Given the description of an element on the screen output the (x, y) to click on. 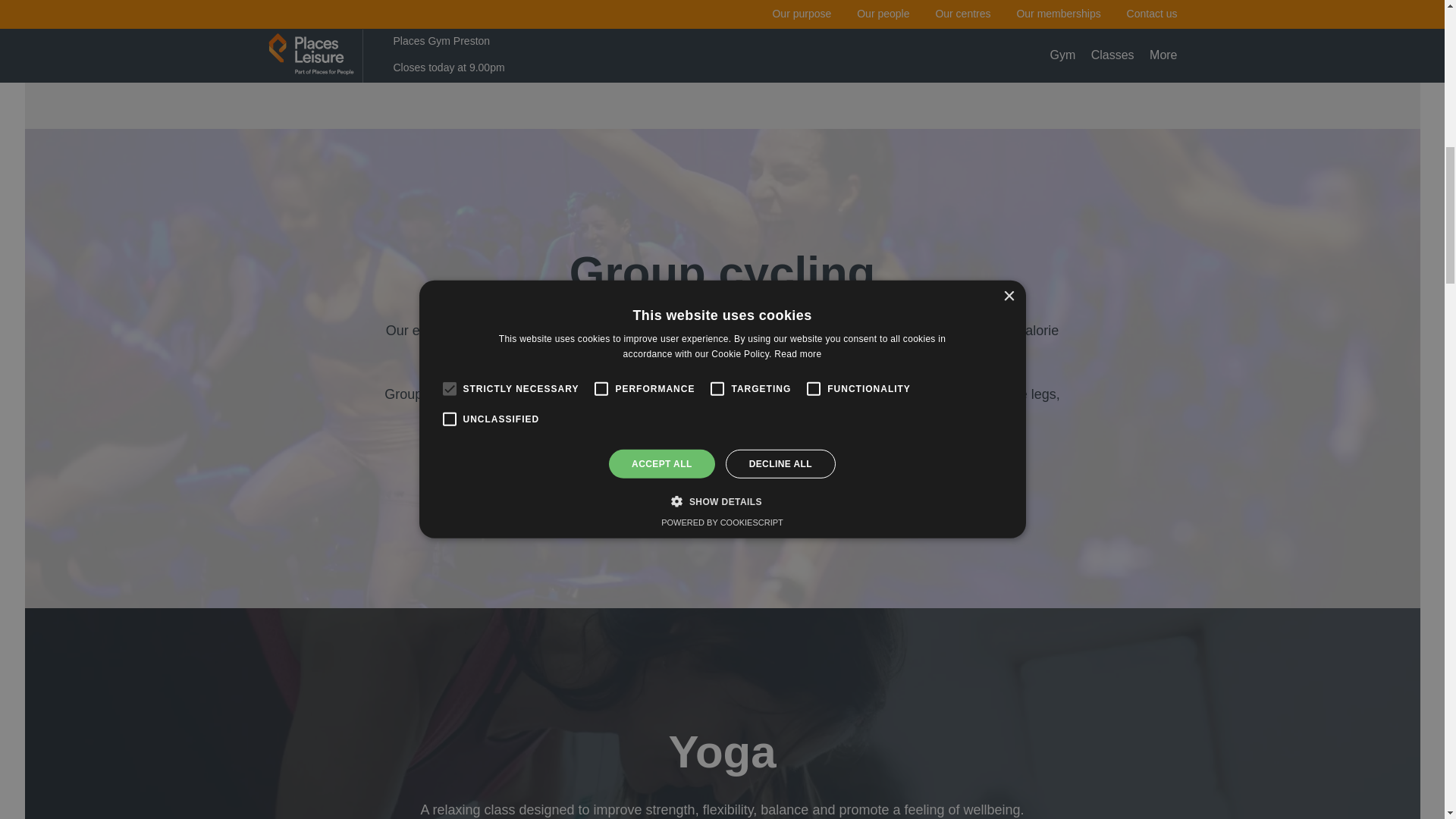
Book now (722, 468)
View timetable (721, 37)
